Given the description of an element on the screen output the (x, y) to click on. 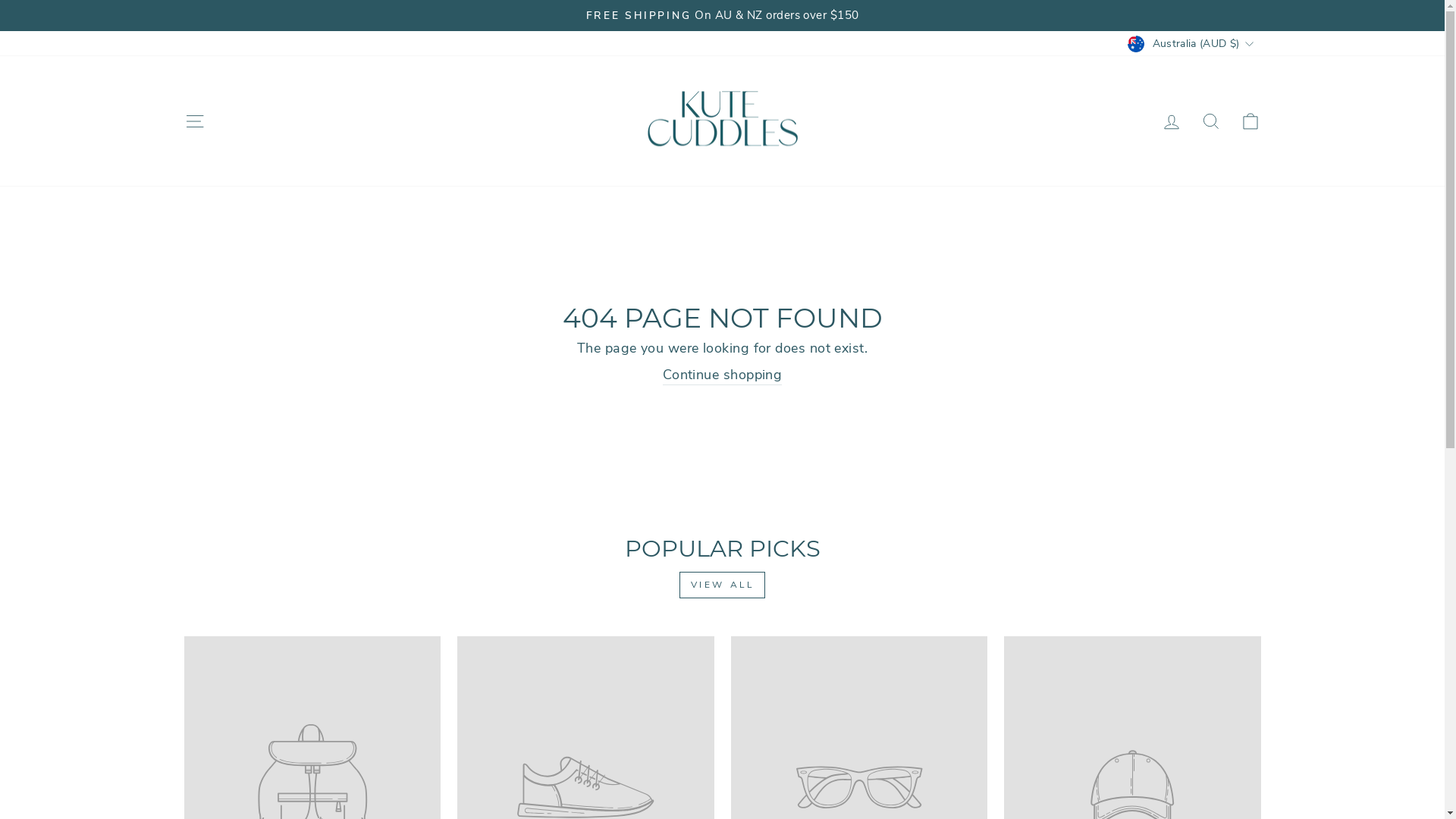
ICON-BAG-MINIMAL
CART Element type: text (1249, 120)
ICON-HAMBURGER
SITE NAVIGATION Element type: text (193, 120)
VIEW ALL Element type: text (722, 584)
Australia (AUD $) Element type: text (1191, 43)
Continue shopping Element type: text (722, 375)
ACCOUNT
LOG IN Element type: text (1170, 120)
ICON-SEARCH
SEARCH Element type: text (1210, 120)
